Given the description of an element on the screen output the (x, y) to click on. 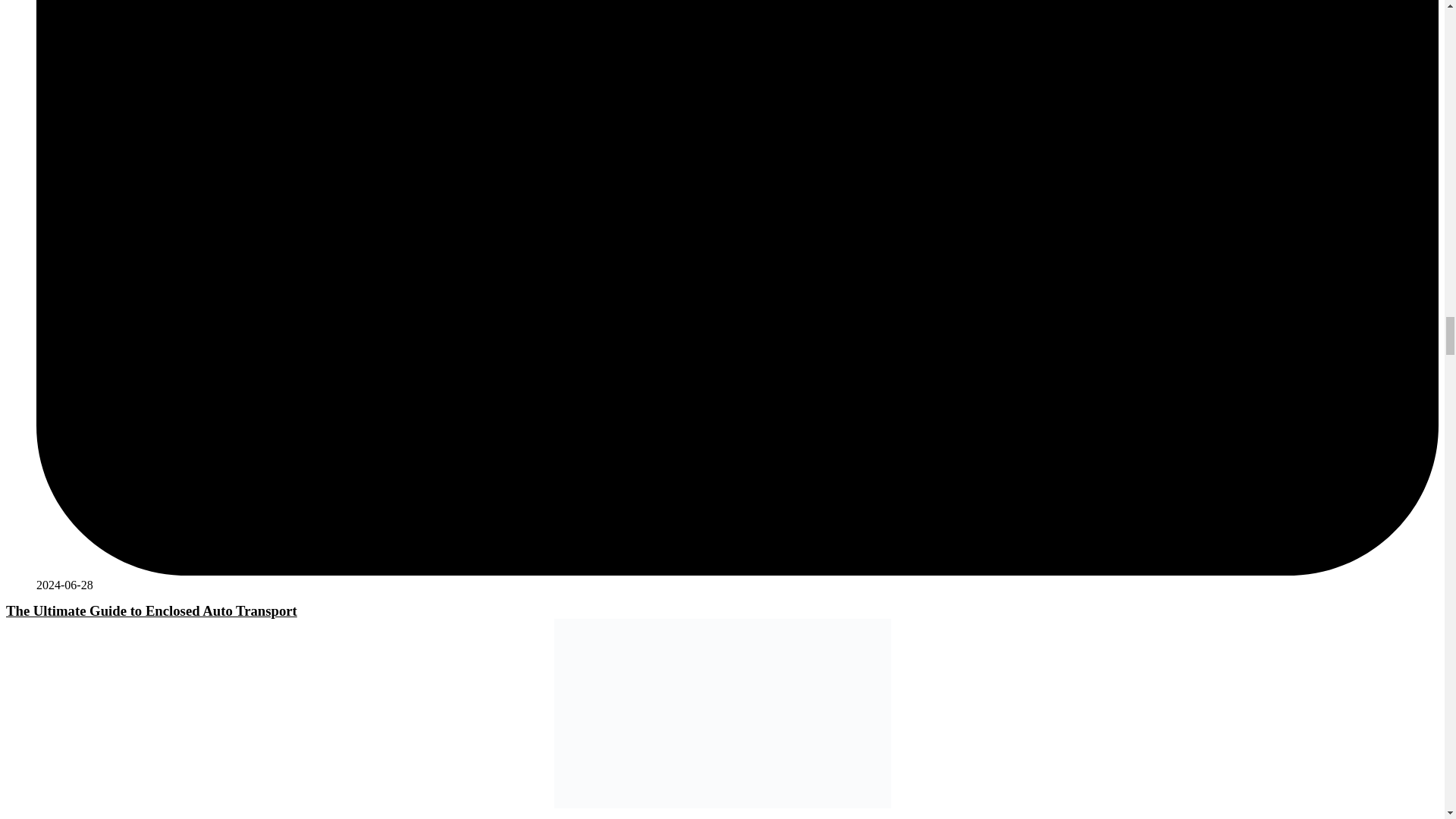
The Ultimate Guide to Enclosed Auto Transport (151, 610)
